Given the description of an element on the screen output the (x, y) to click on. 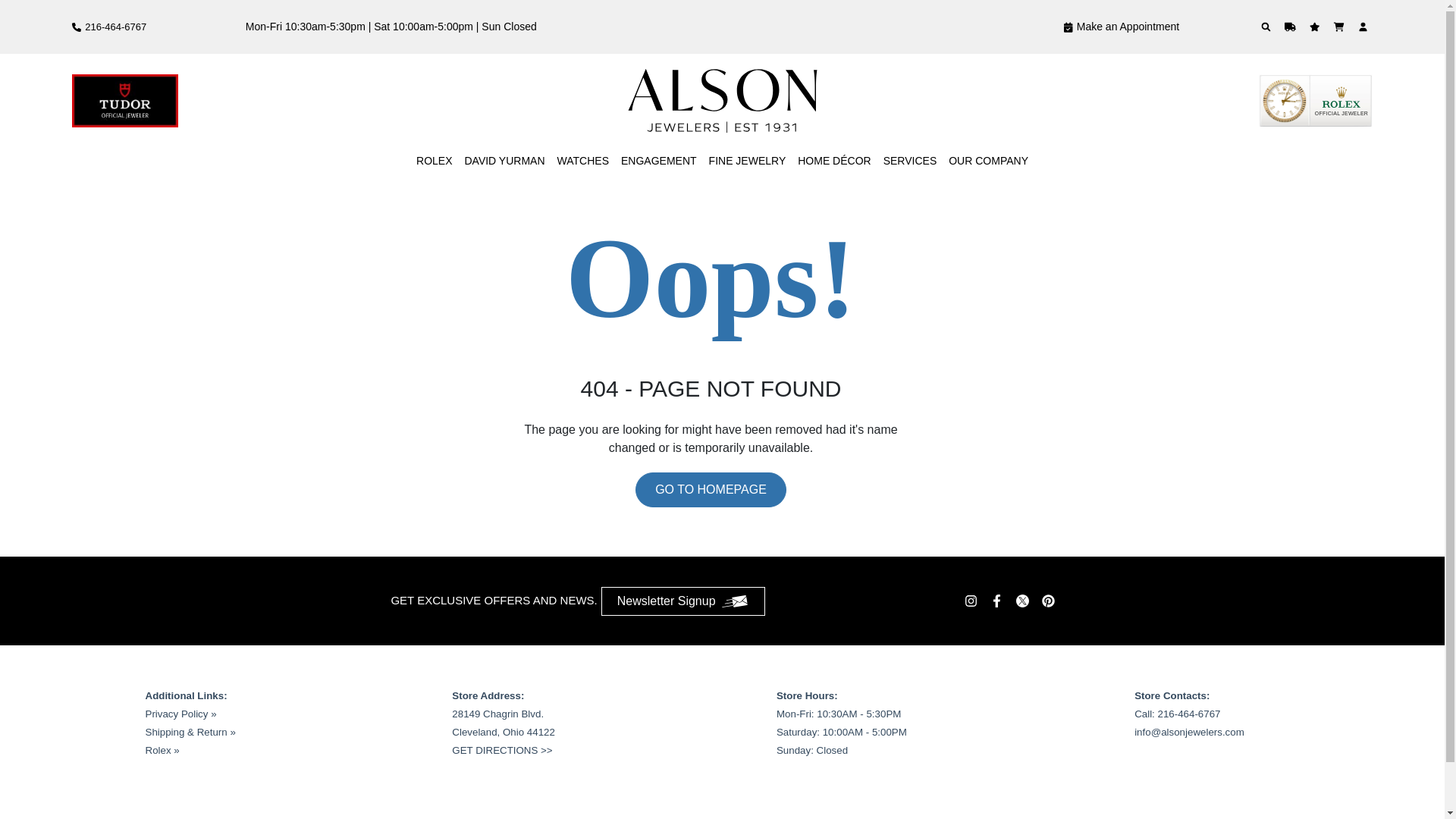
ROLEX (433, 161)
DAVID YURMAN (504, 161)
Make an Appointment (1120, 26)
Call us 216-464-6767 (109, 27)
216-464-6767 (109, 27)
Shopping Cart (1340, 26)
Alson Jewelers Logo (721, 100)
TUDOR Watches (124, 100)
Wishlist (1315, 26)
ENGAGEMENT (659, 161)
